Given the description of an element on the screen output the (x, y) to click on. 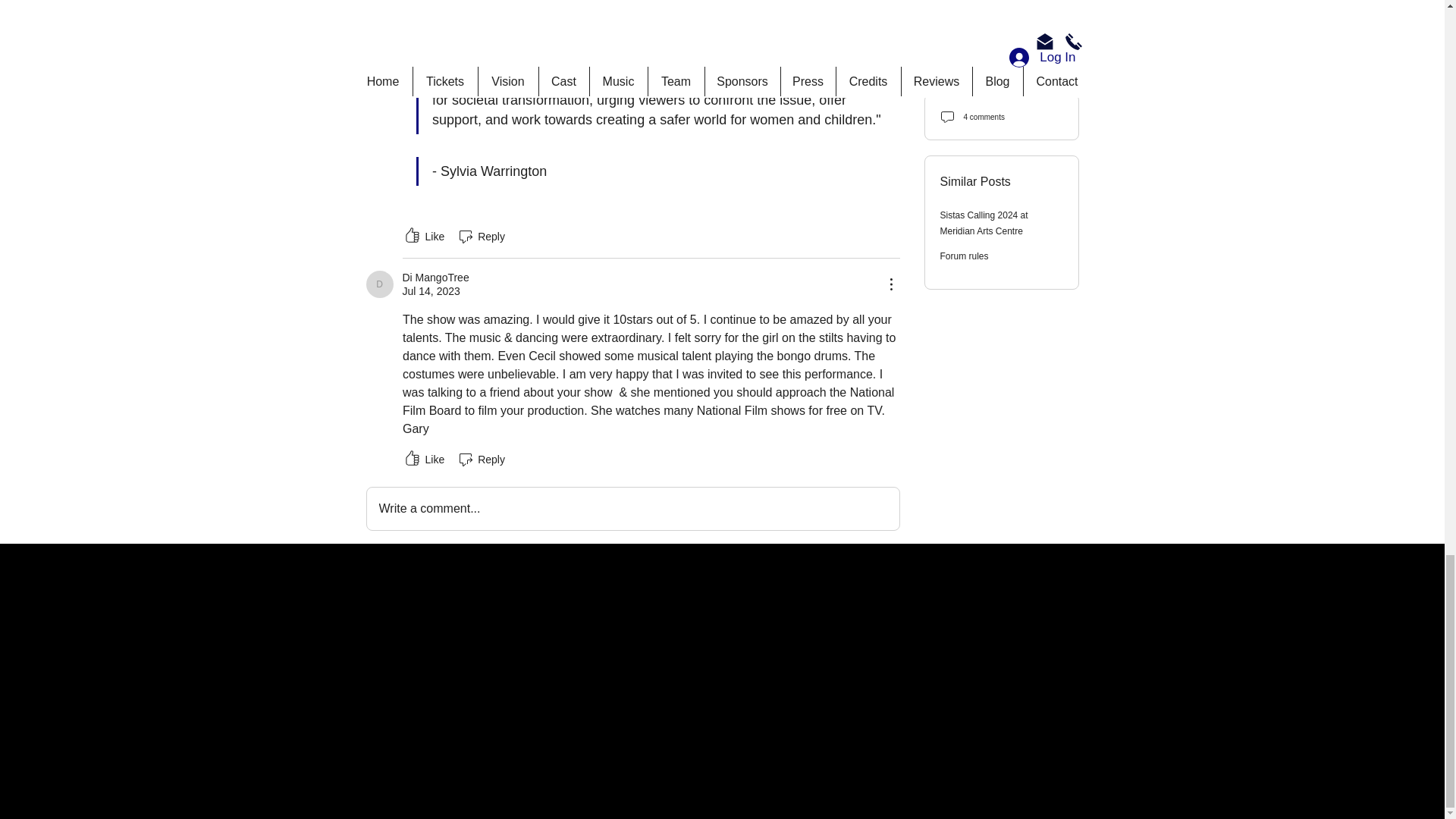
Di MangoTree (379, 284)
